Given the description of an element on the screen output the (x, y) to click on. 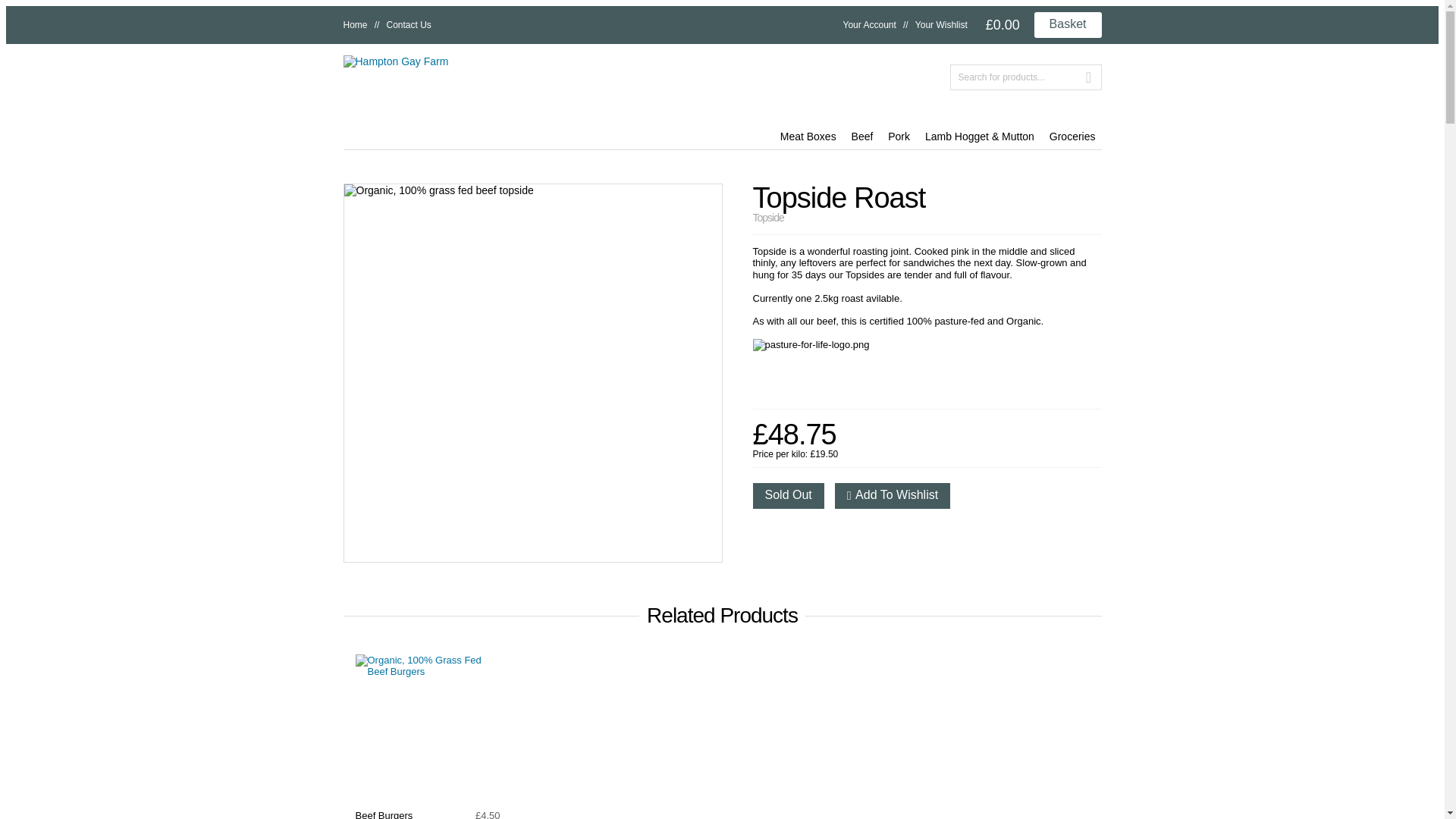
Share on Tumblr (846, 532)
Meat Boxes (808, 136)
Add To Wishlist (892, 495)
Your Account (869, 24)
Beef (862, 136)
Pork (898, 136)
Share on Twitter (790, 532)
Contact Us (408, 24)
Your Wishlist (941, 24)
Share on Facebook (764, 532)
